Given the description of an element on the screen output the (x, y) to click on. 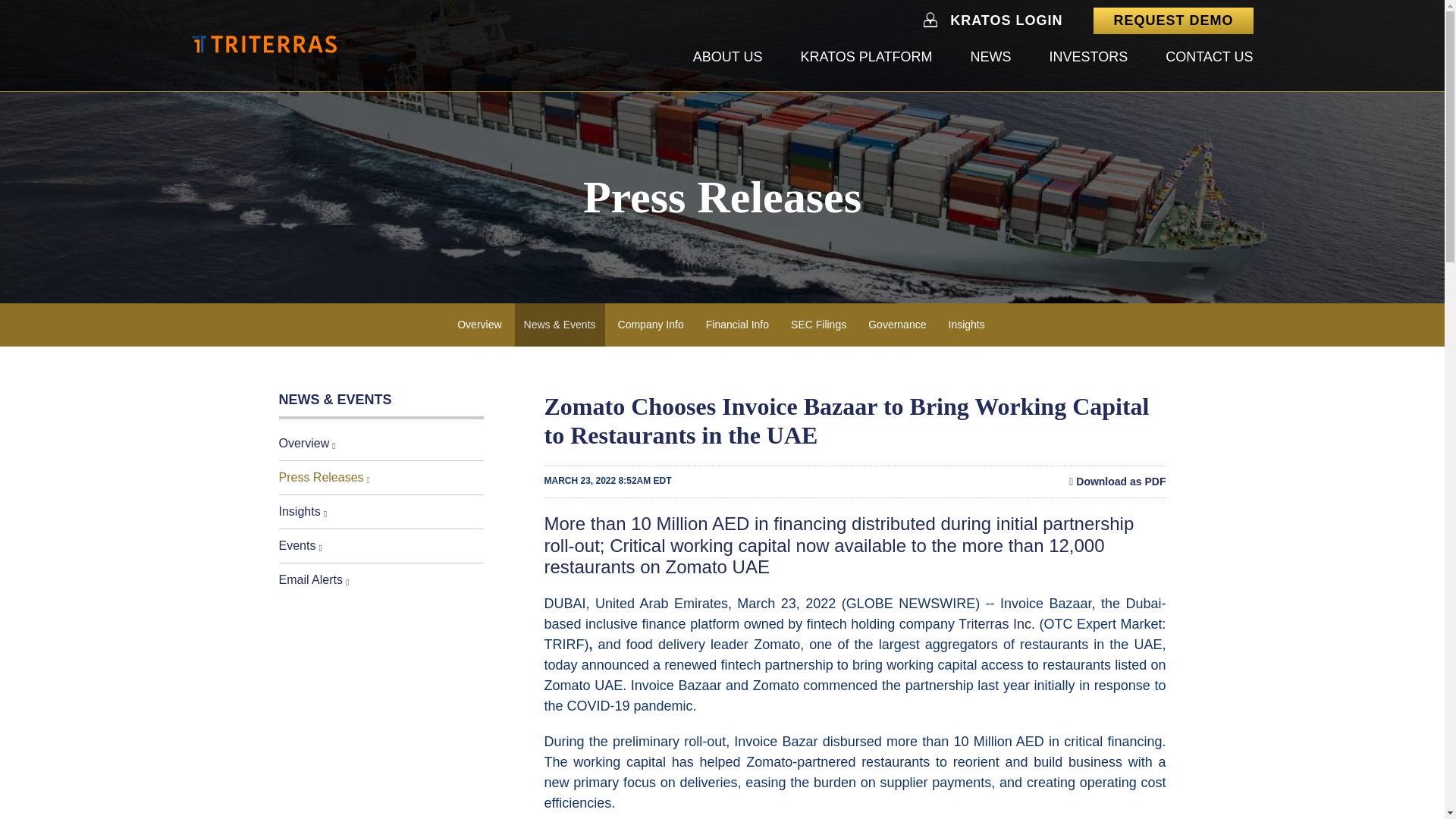
Governance (896, 324)
Company Info (650, 324)
CONTACT US (1209, 58)
SEC Filings (818, 324)
NEWS (989, 58)
KRATOS PLATFORM (865, 58)
KRATOS LOGIN (1005, 20)
INVESTORS (1087, 58)
REQUEST DEMO (1172, 20)
ABOUT US (727, 58)
Financial Info (737, 324)
Overview (479, 324)
